Given the description of an element on the screen output the (x, y) to click on. 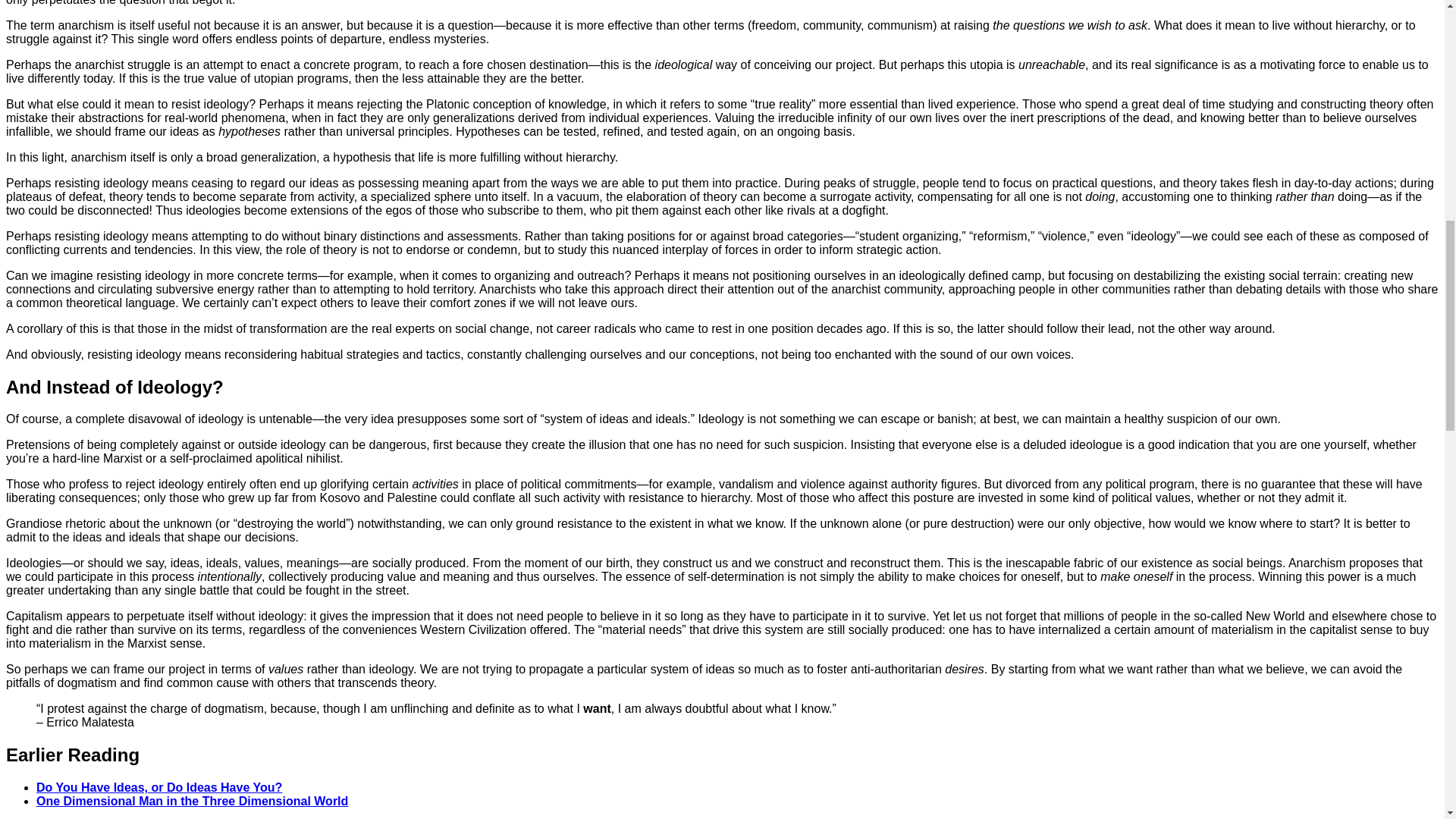
One Dimensional Man in the Three Dimensional World (191, 800)
Do You Have Ideas, or Do Ideas Have You? (159, 787)
